Given the description of an element on the screen output the (x, y) to click on. 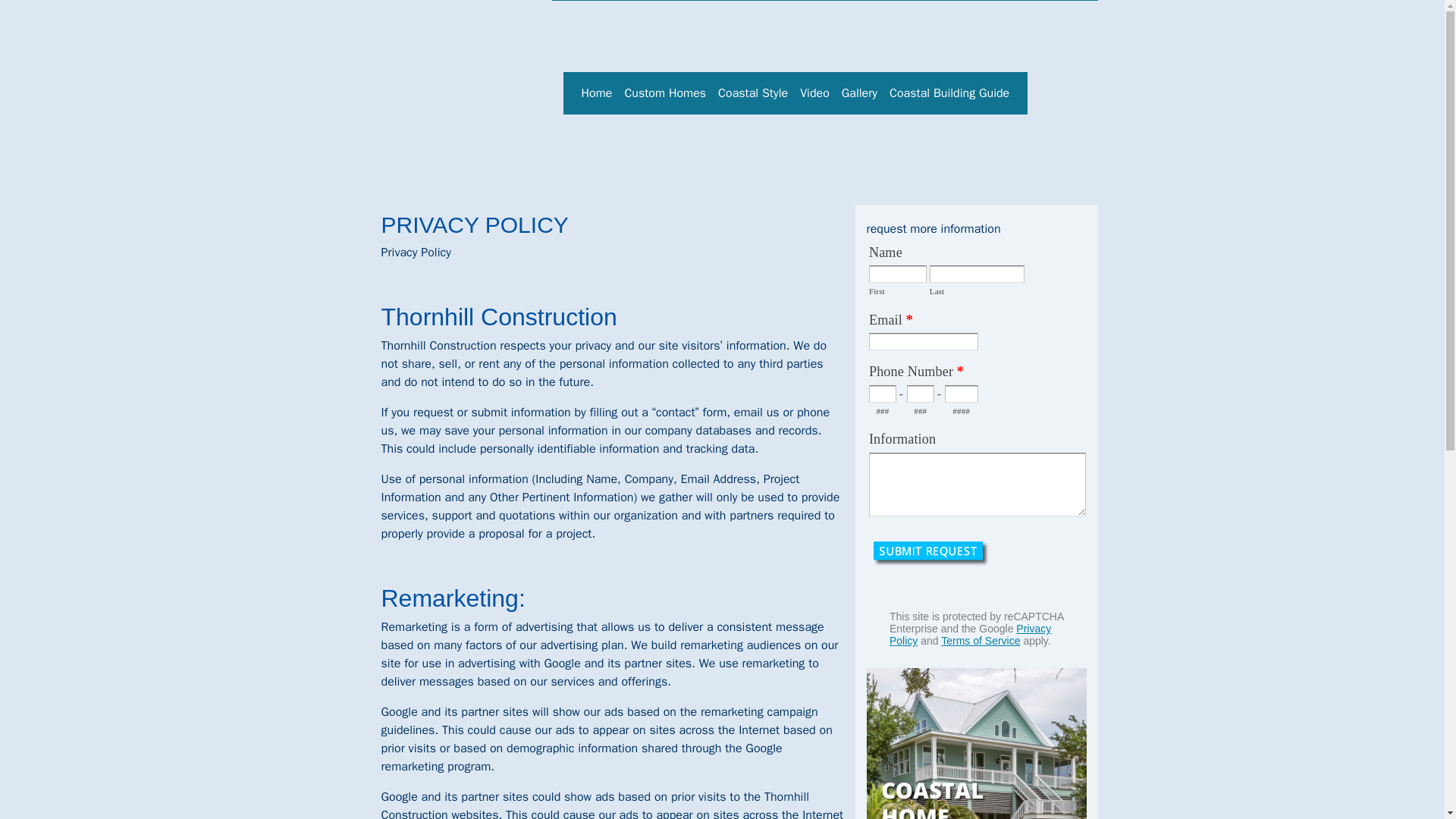
Coastal Building Guide (948, 92)
Home (596, 92)
Custom Homes (664, 92)
Gallery (859, 92)
Video (814, 92)
Video (814, 92)
Custom Homes (664, 92)
Coastal Building Guide (948, 92)
Home (596, 92)
Coastal Style (752, 92)
Gallery (859, 92)
Coastal Style (752, 92)
